Given the description of an element on the screen output the (x, y) to click on. 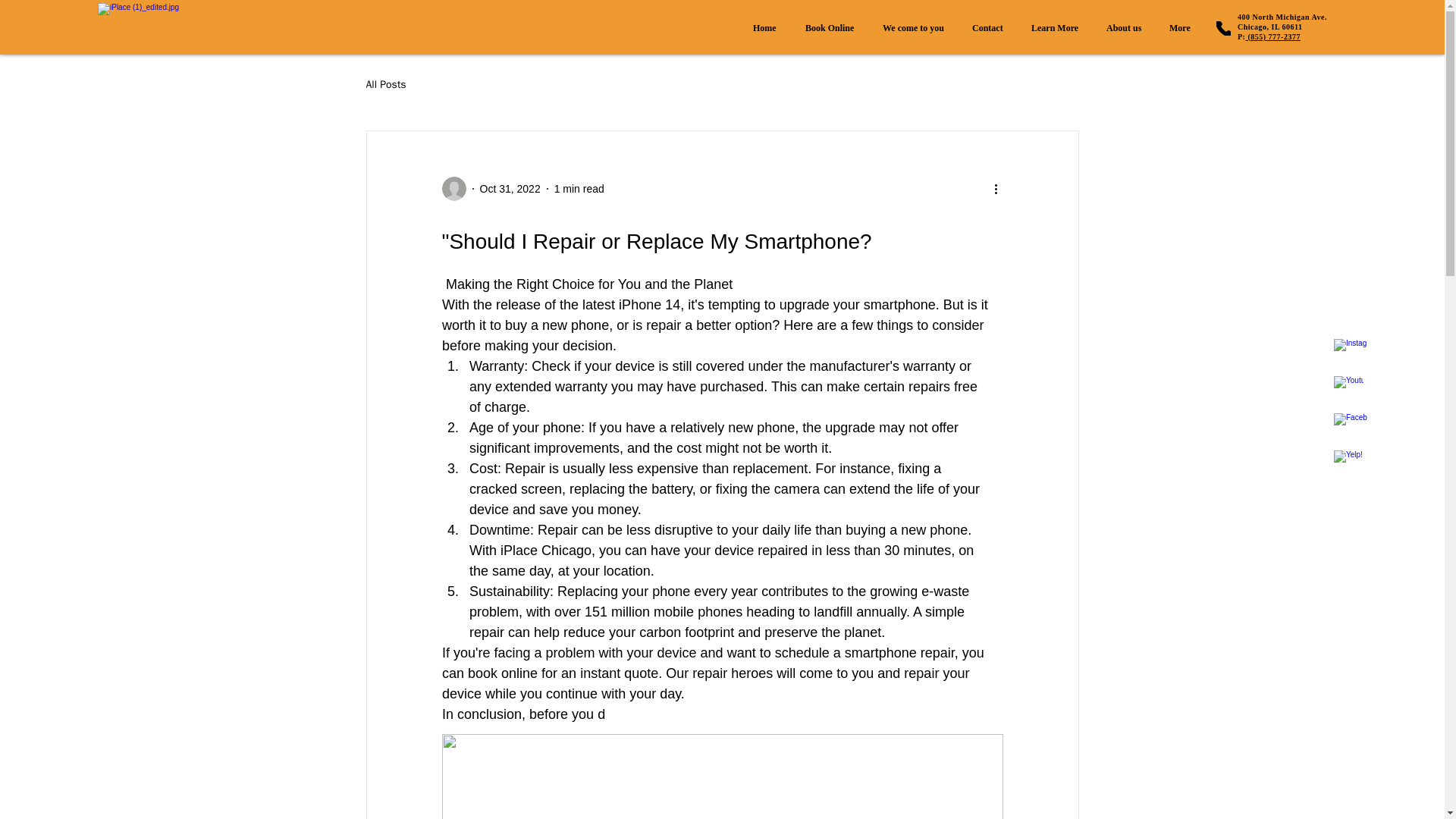
Oct 31, 2022 (509, 187)
1 min read (579, 187)
About us (1125, 27)
Learn More (1057, 27)
Contact (1281, 22)
All Posts (990, 27)
Home (385, 84)
Book Online (767, 27)
We come to you (831, 27)
